Given the description of an element on the screen output the (x, y) to click on. 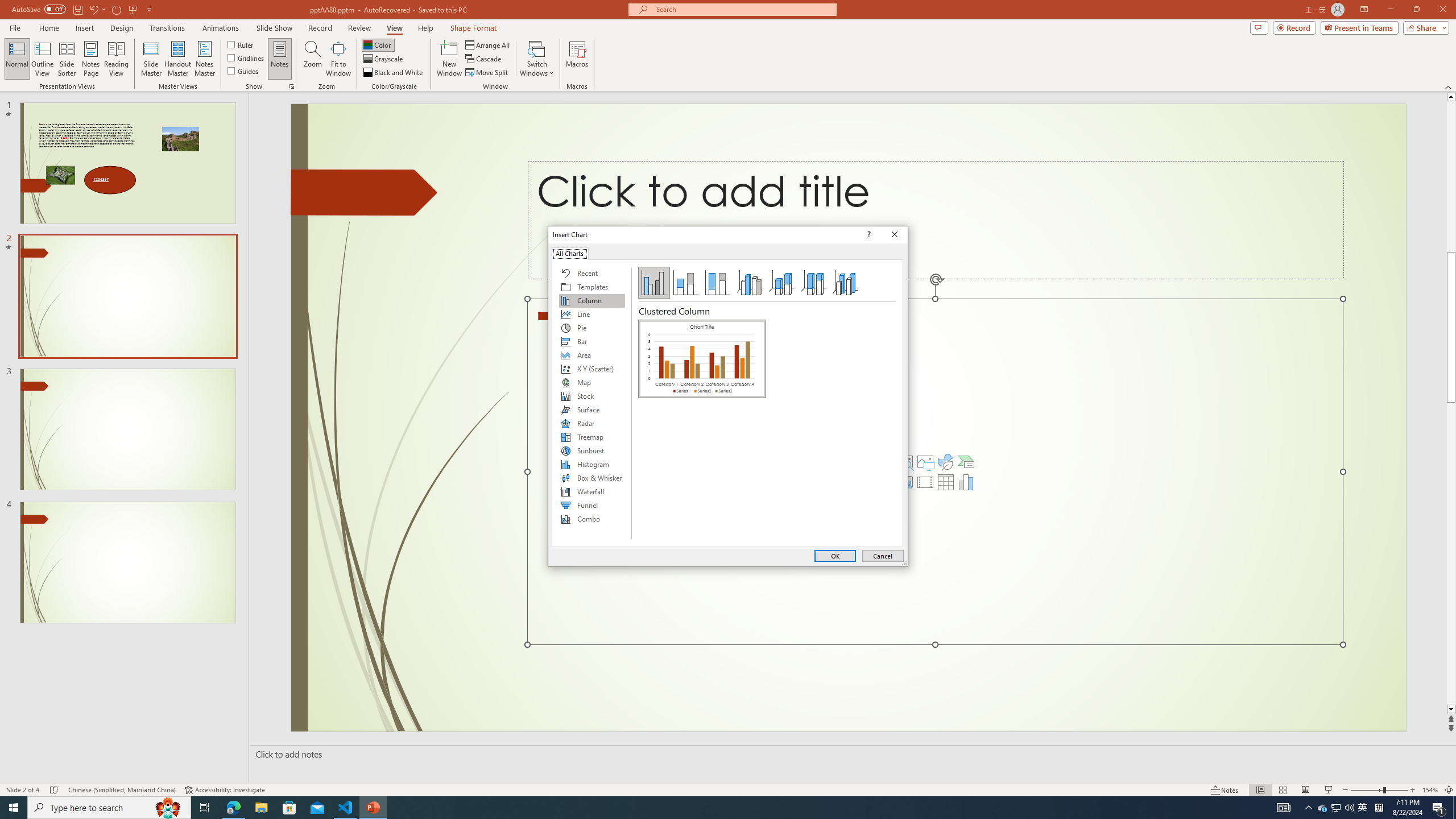
Notes (279, 58)
100% Stacked Column (717, 282)
Outline View (42, 58)
